Given the description of an element on the screen output the (x, y) to click on. 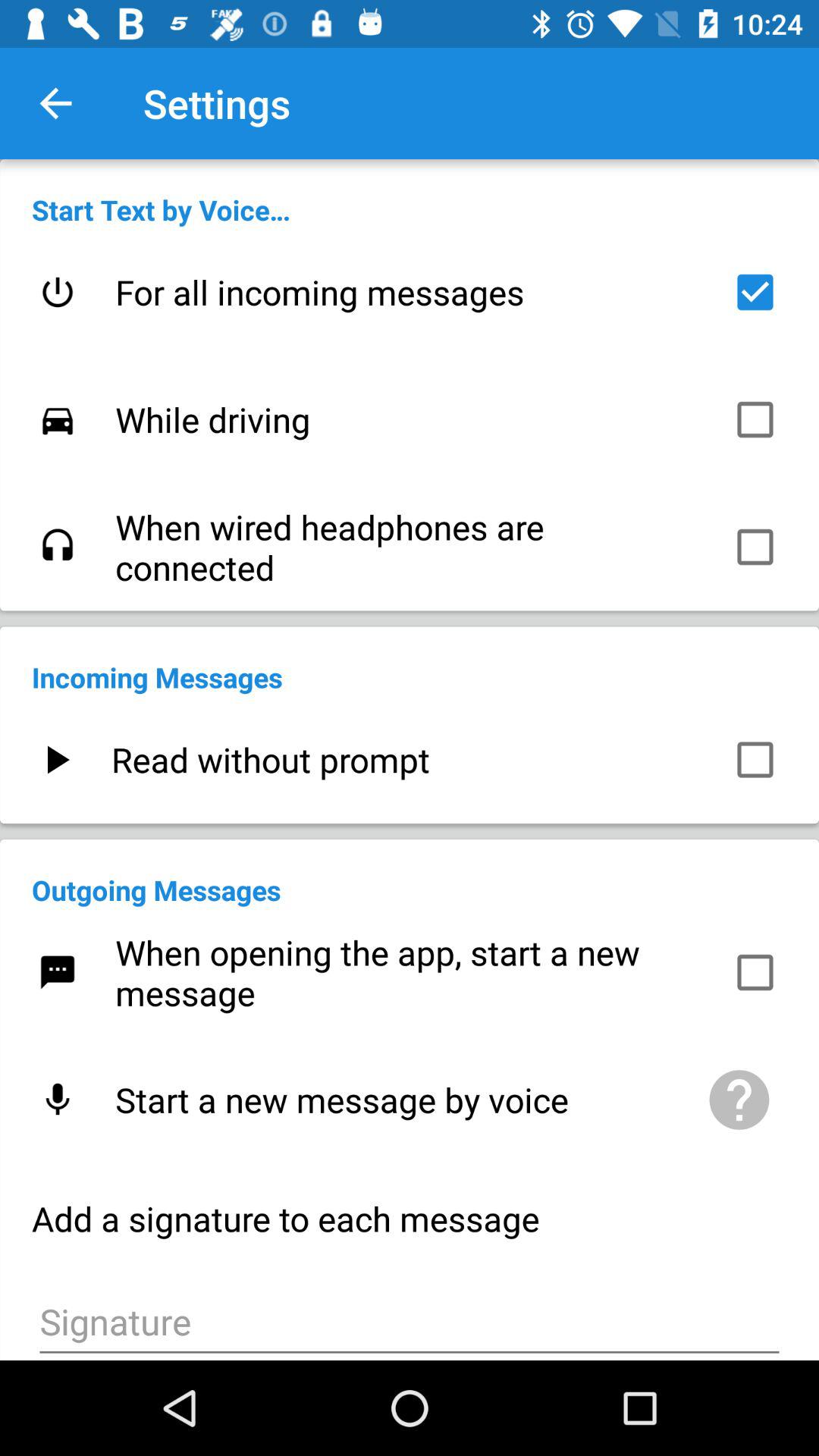
open icon below the add a signature item (409, 1319)
